Given the description of an element on the screen output the (x, y) to click on. 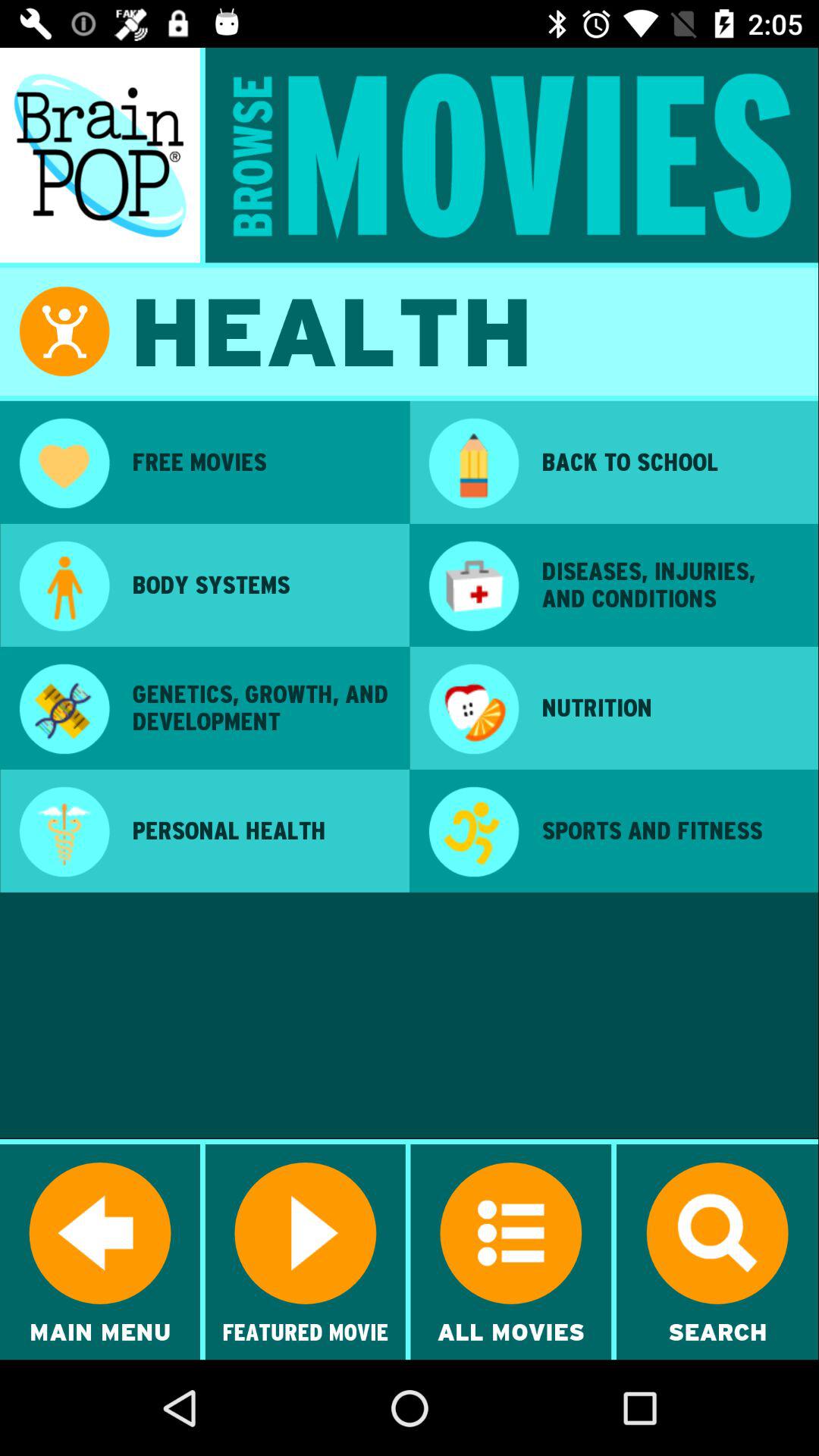
turn off genetics growth and icon (260, 707)
